Given the description of an element on the screen output the (x, y) to click on. 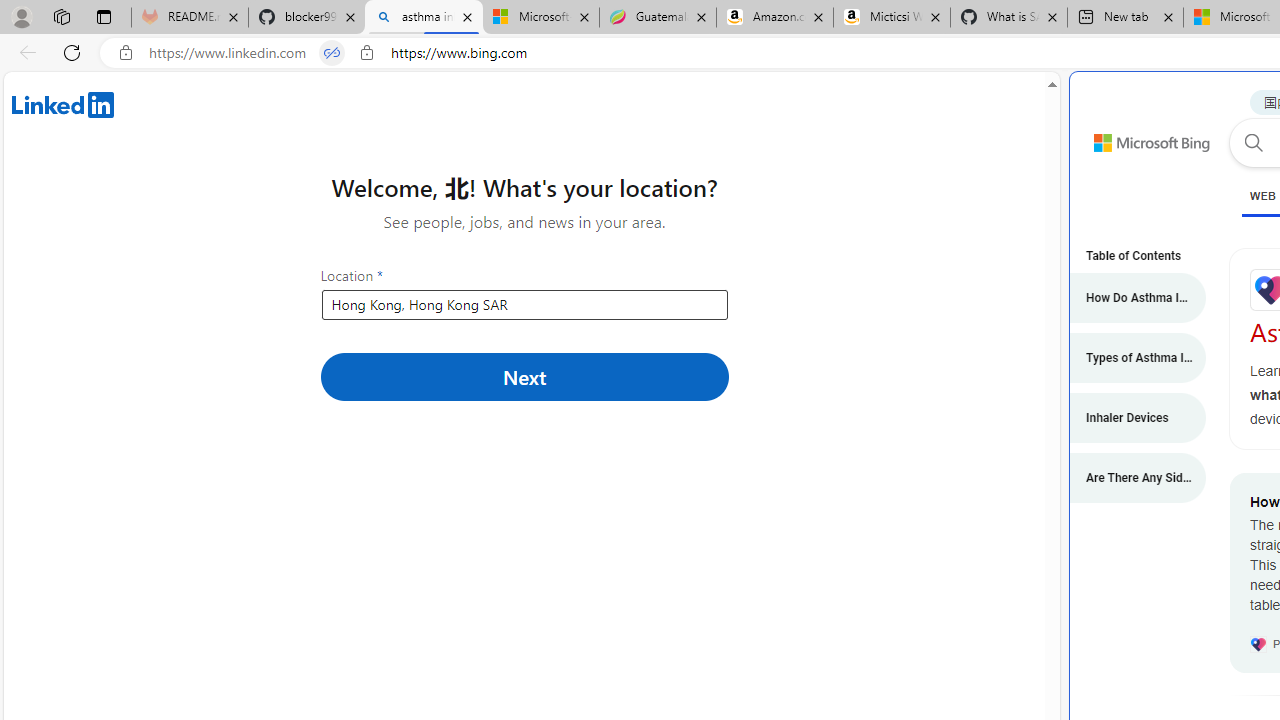
Are There Any Side-Effects from Asthma Inhalers? (1127, 477)
Inhaler Devices (1127, 417)
Tabs in split screen (331, 53)
